Given the description of an element on the screen output the (x, y) to click on. 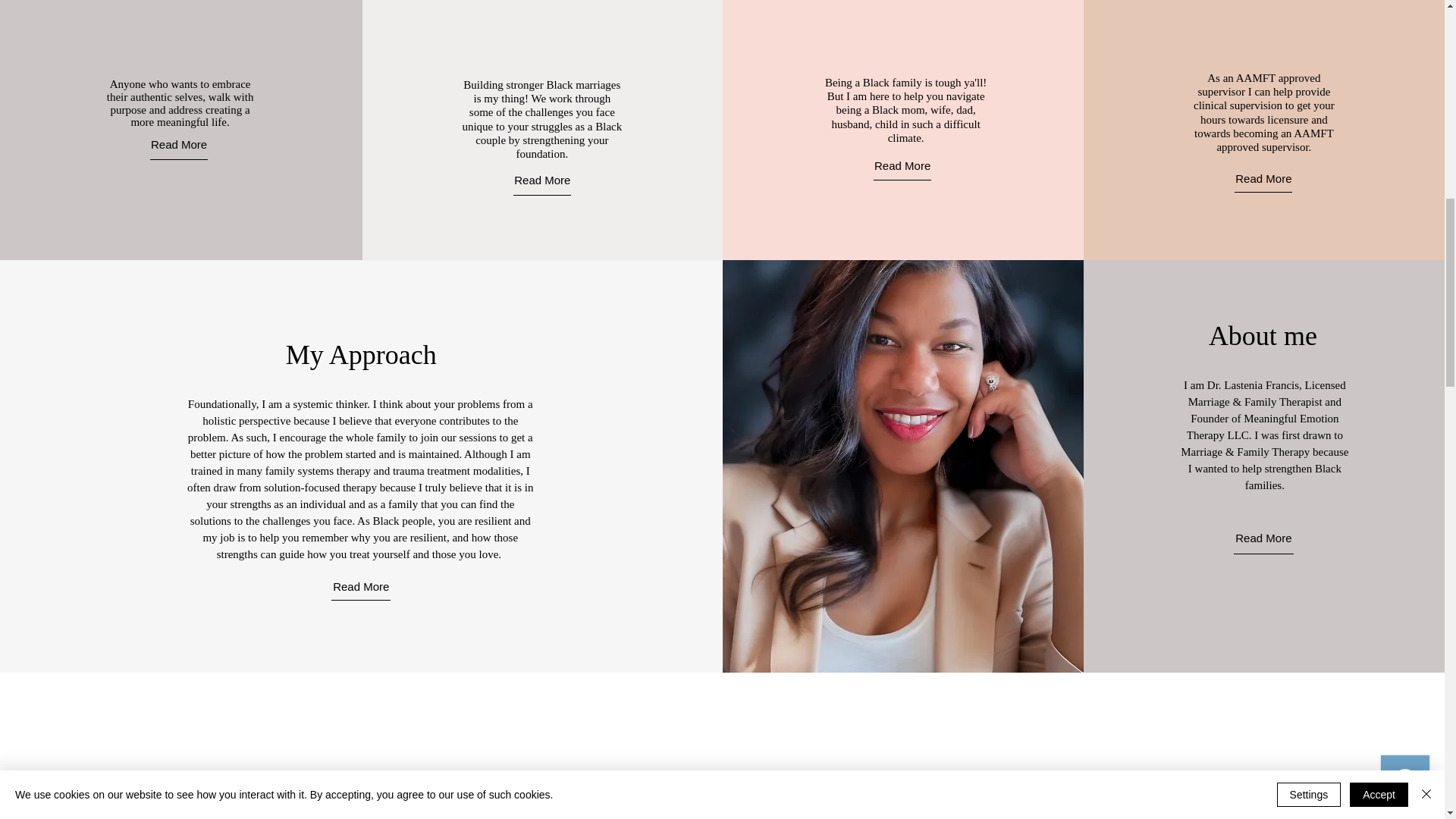
Read More (902, 165)
Read More (1263, 537)
Read More (541, 179)
Read More (178, 143)
Read More (360, 585)
Read More (1263, 177)
